Given the description of an element on the screen output the (x, y) to click on. 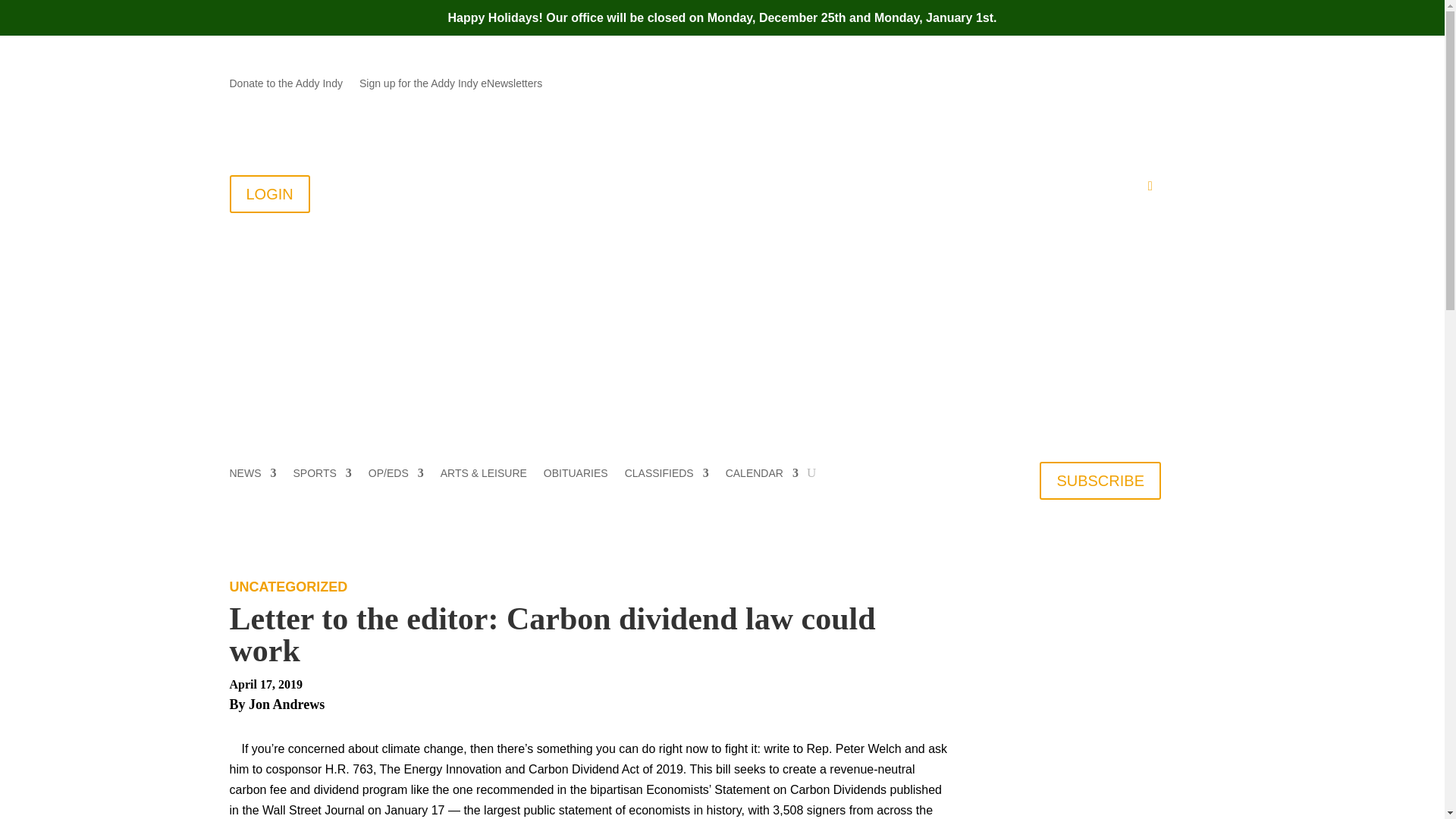
Donate to the Addy Indy (285, 86)
addison-logo (418, 276)
Join the Addy All-Stars! (751, 189)
My Account (1111, 189)
PDF Editions (1029, 189)
Contact (653, 189)
Follow on Mail (1057, 84)
Advertise (944, 189)
Follow on Instagram (1148, 84)
3rd party ad content (1100, 699)
Sign up for the Addy Indy eNewsletters (450, 86)
LOGIN (268, 193)
Follow on X (1118, 84)
Follow on Facebook (1087, 84)
About (590, 189)
